Given the description of an element on the screen output the (x, y) to click on. 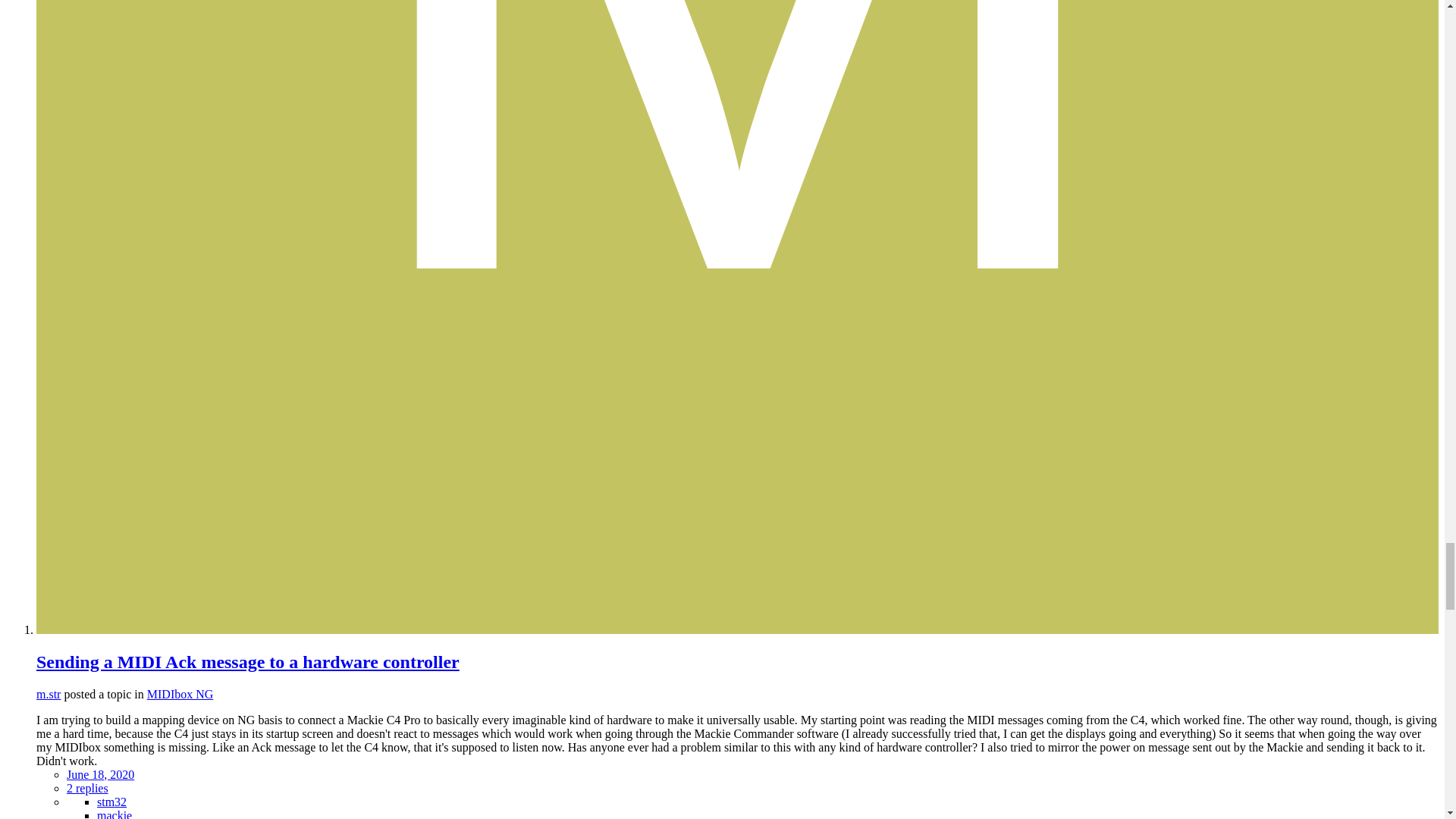
Go to m.str's profile (48, 694)
Find other content tagged with 'stm32' (111, 801)
Find other content tagged with 'mackie' (114, 814)
